Given the description of an element on the screen output the (x, y) to click on. 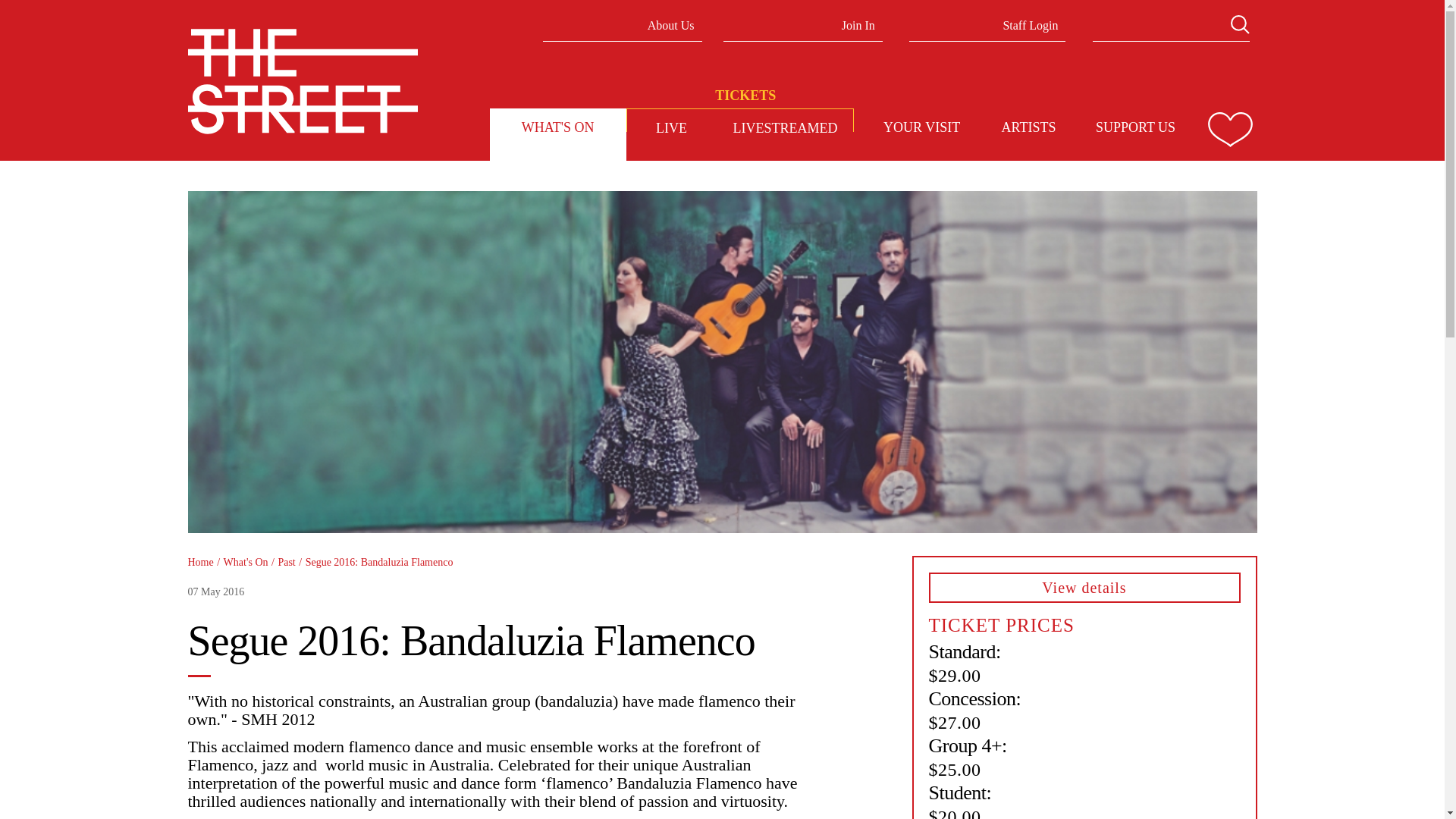
Join In (802, 20)
Search (1239, 24)
Staff Login (986, 20)
What's On (557, 127)
ARTISTS (1028, 127)
Join In (802, 20)
LIVE (671, 127)
About Us (622, 20)
YOUR VISIT (921, 127)
Home (302, 81)
Staff Login (986, 20)
WHAT'S ON (557, 127)
Search (1239, 24)
